Given the description of an element on the screen output the (x, y) to click on. 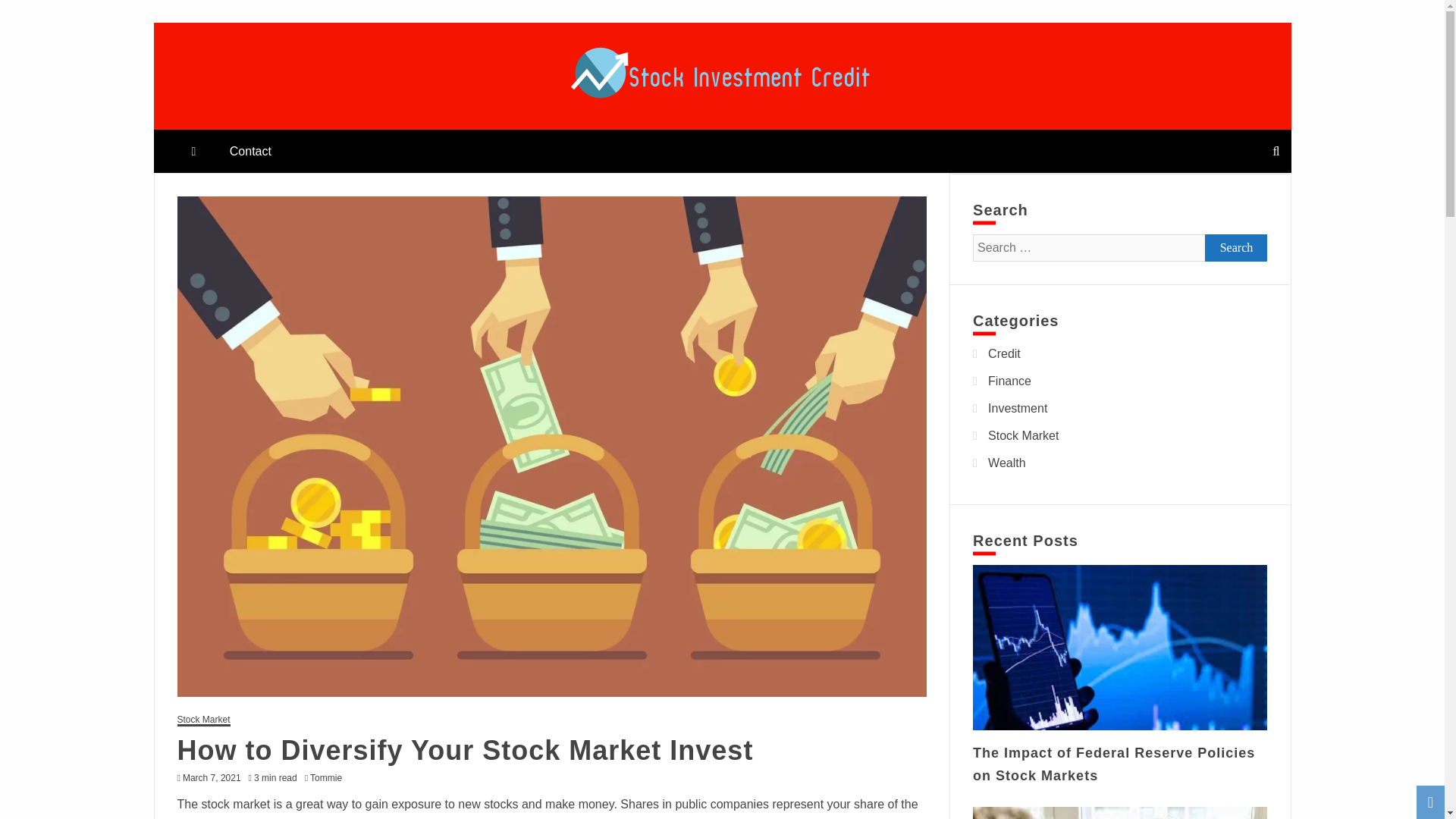
Search (1235, 247)
Stock Market (203, 720)
Contact (250, 150)
Finance (1009, 380)
The Impact of Federal Reserve Policies on Stock Markets (1113, 764)
Investment (1017, 408)
March 7, 2021 (212, 777)
Credit (1004, 353)
Search (31, 13)
Search (1235, 247)
Wealth (1007, 462)
Tommie (329, 777)
Stock Market (1023, 435)
Stock Investment Credit (340, 122)
